Given the description of an element on the screen output the (x, y) to click on. 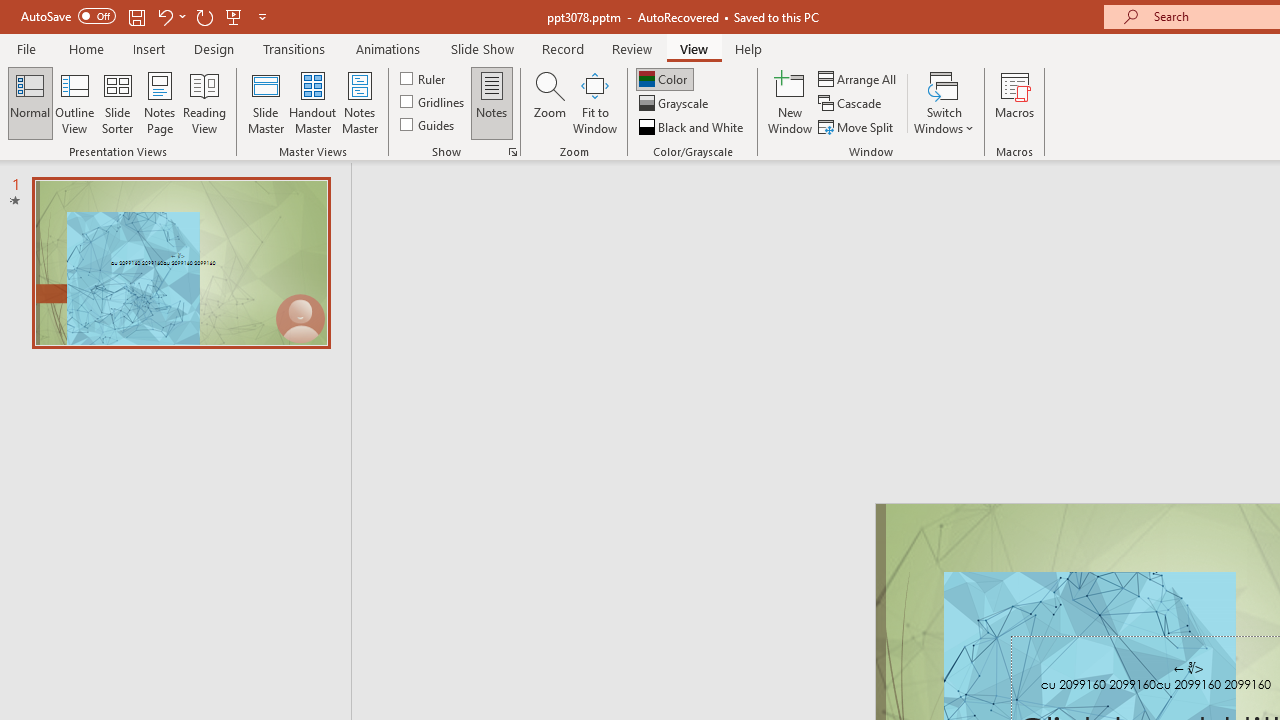
Macros (1014, 102)
